Given the description of an element on the screen output the (x, y) to click on. 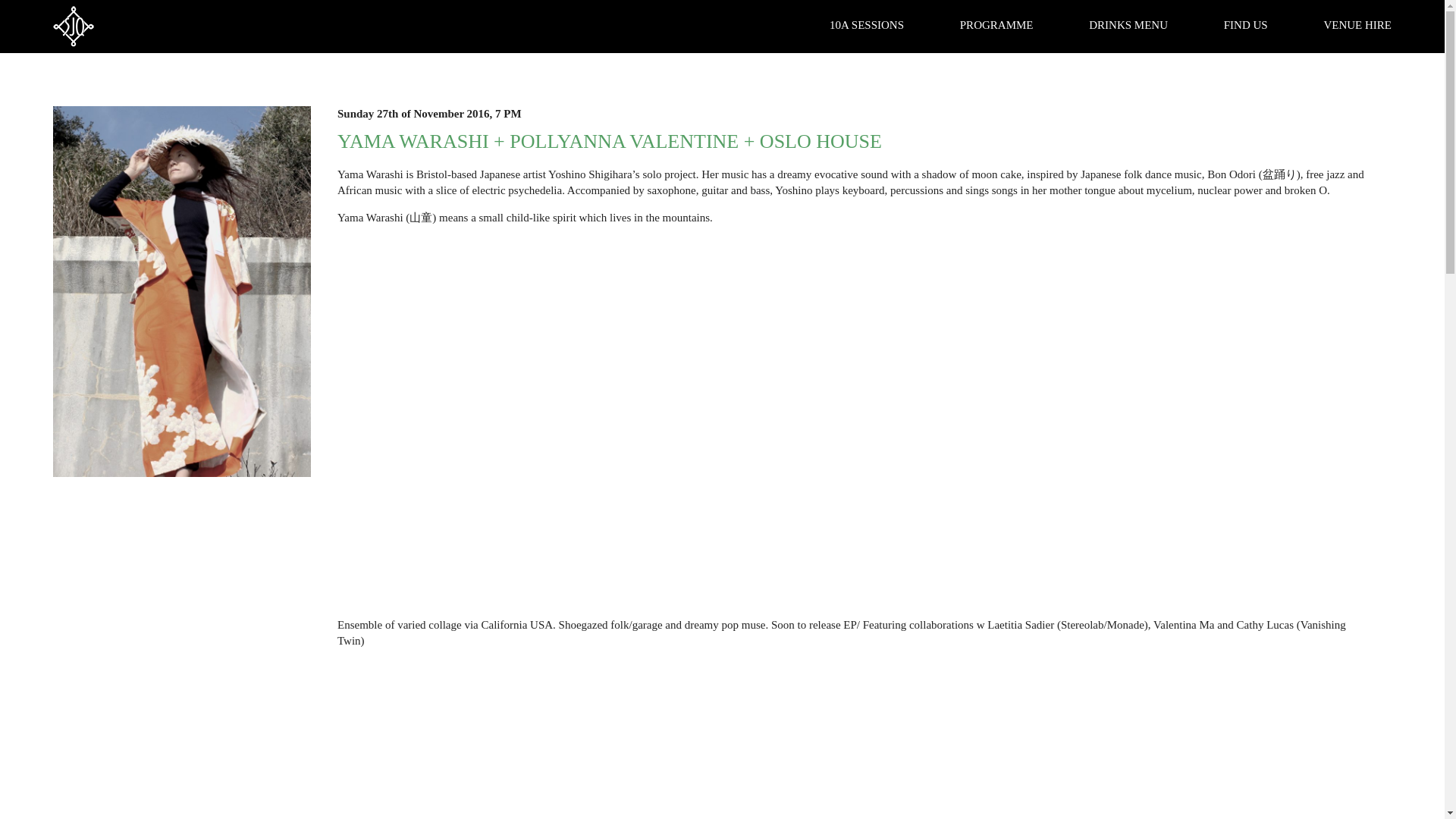
VENUE HIRE (1357, 24)
SJQ (73, 25)
FIND US (1246, 24)
DRINKS MENU (1128, 24)
PROGRAMME (996, 24)
10A SESSIONS (866, 24)
